Given the description of an element on the screen output the (x, y) to click on. 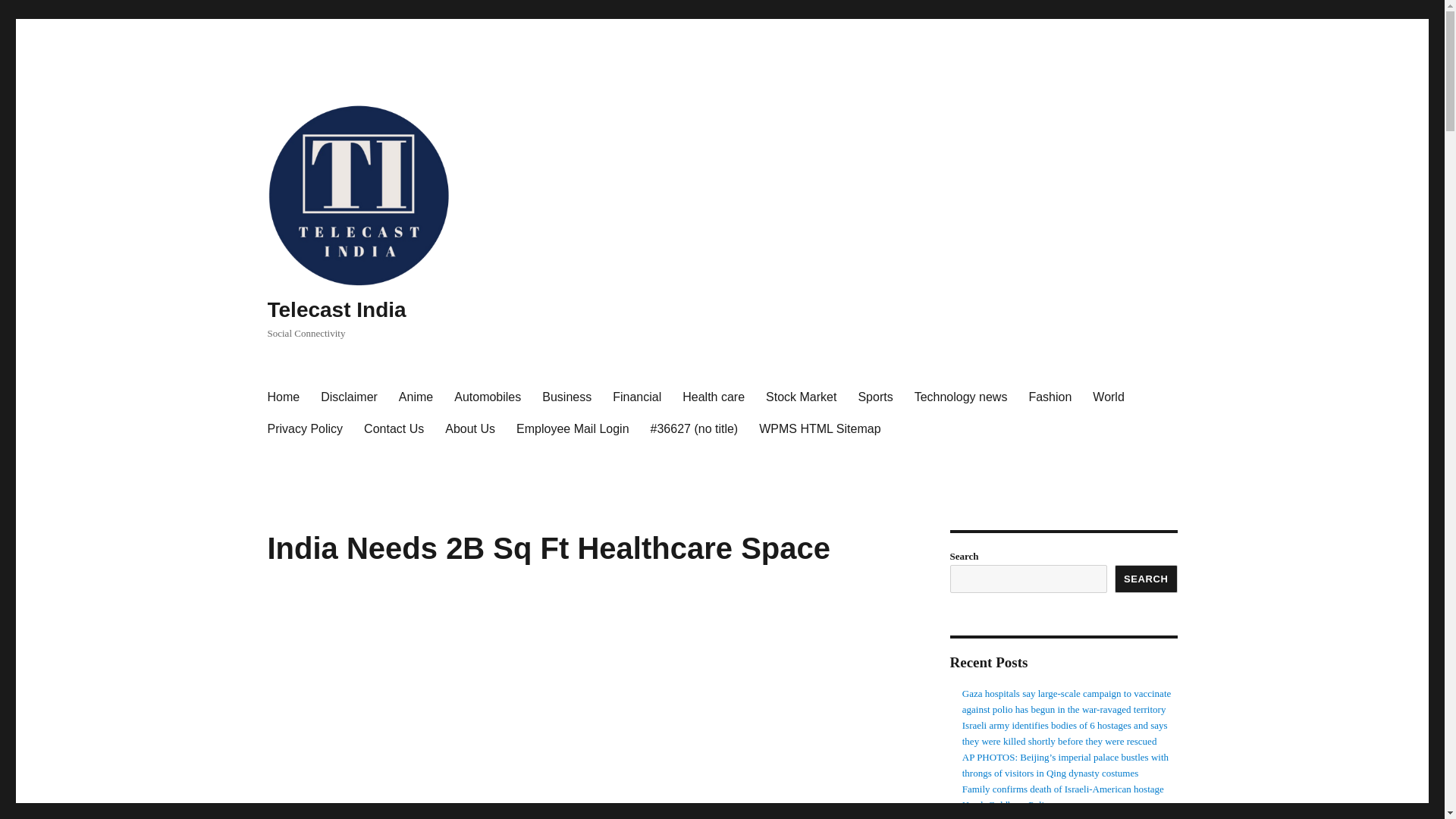
About Us (469, 429)
Financial (636, 397)
Stock Market (801, 397)
Sports (874, 397)
Automobiles (487, 397)
Business (566, 397)
Health care (713, 397)
Disclaimer (349, 397)
Technology news (960, 397)
Telecast India (336, 309)
